Given the description of an element on the screen output the (x, y) to click on. 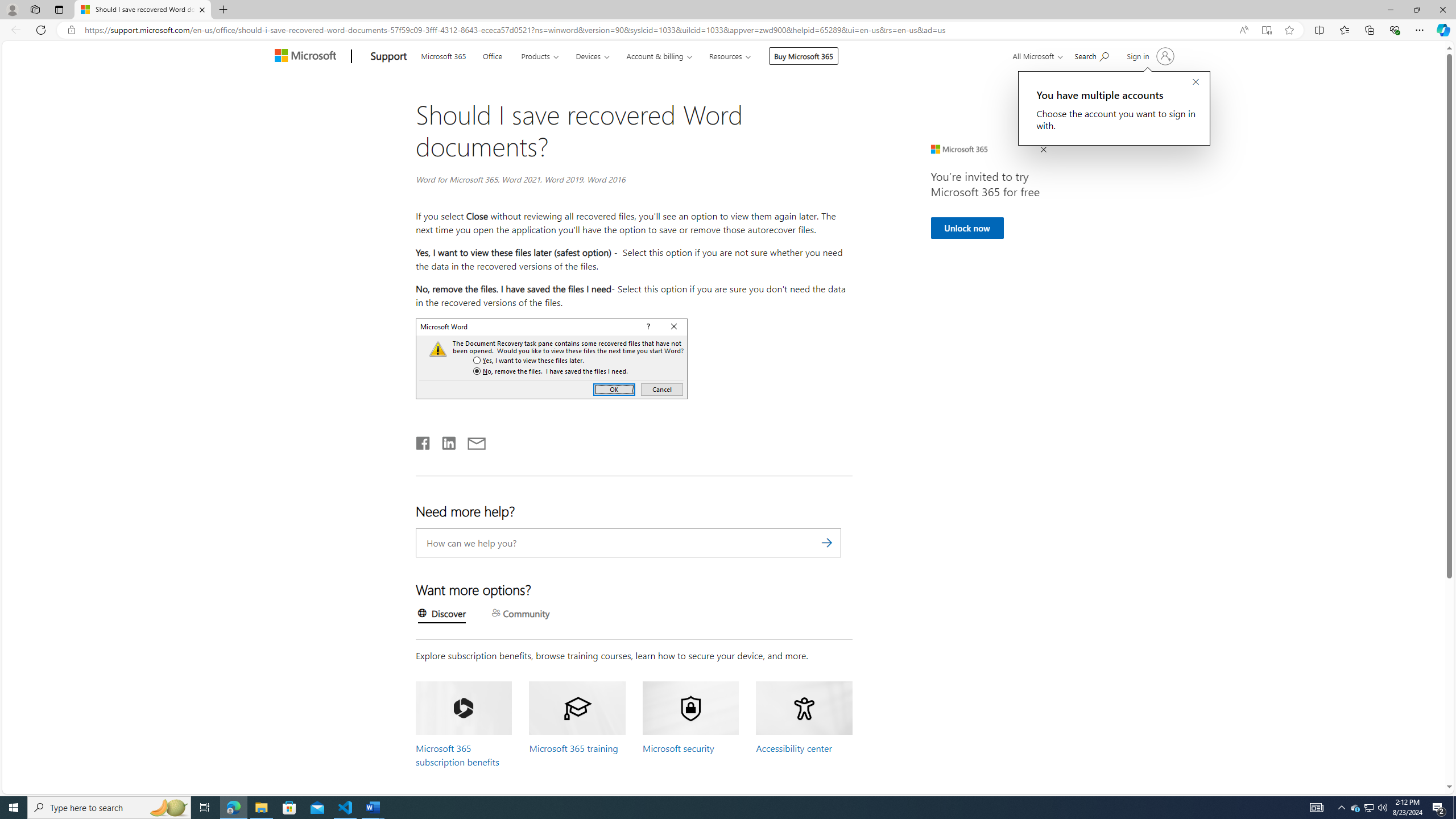
Buy Microsoft 365 (803, 55)
Save document recovery dialog (551, 358)
Add this page to favorites (Ctrl+D) (1289, 29)
Microsoft security (678, 748)
Close (1442, 9)
Refresh (40, 29)
Facebook (422, 441)
Settings and more (Alt+F) (1419, 29)
Collections (1369, 29)
Search (826, 542)
LinkedIn (448, 441)
New Tab (223, 9)
